Given the description of an element on the screen output the (x, y) to click on. 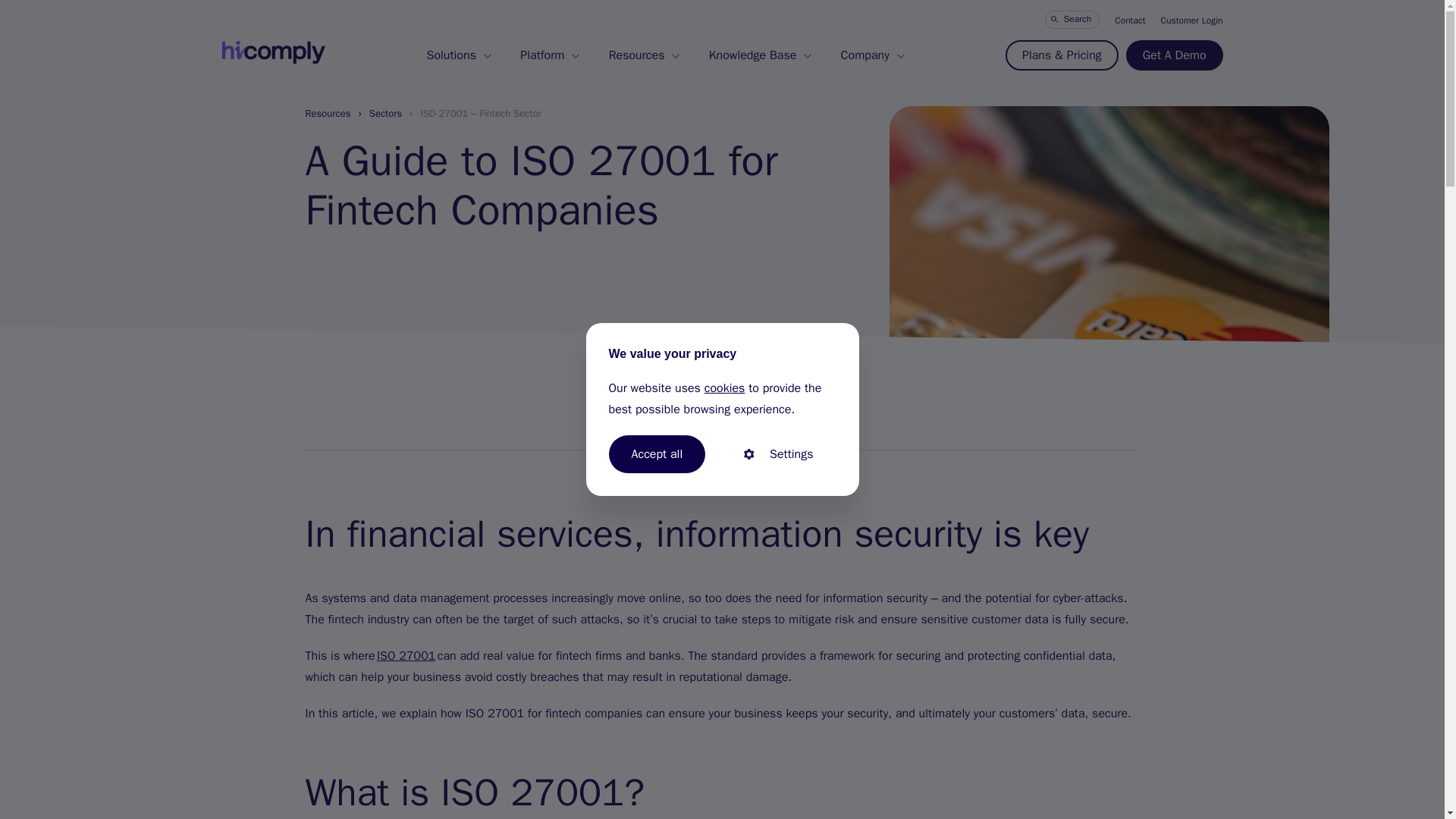
Get A Demo (1174, 55)
Get A Demo (1174, 55)
Customer Login (1191, 19)
Platform (549, 55)
Contact (1129, 19)
cookies (724, 387)
Solutions (458, 55)
